Given the description of an element on the screen output the (x, y) to click on. 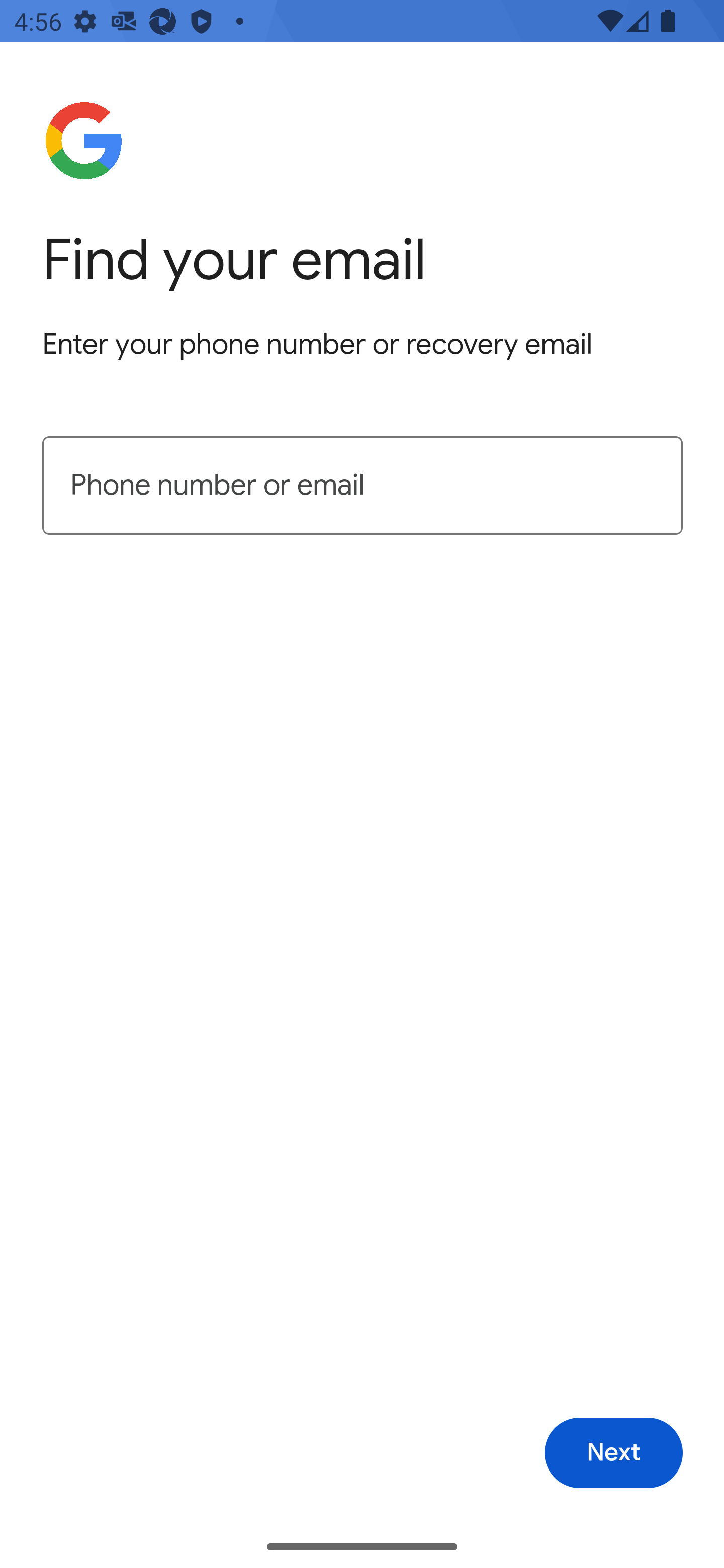
Next (613, 1453)
